Given the description of an element on the screen output the (x, y) to click on. 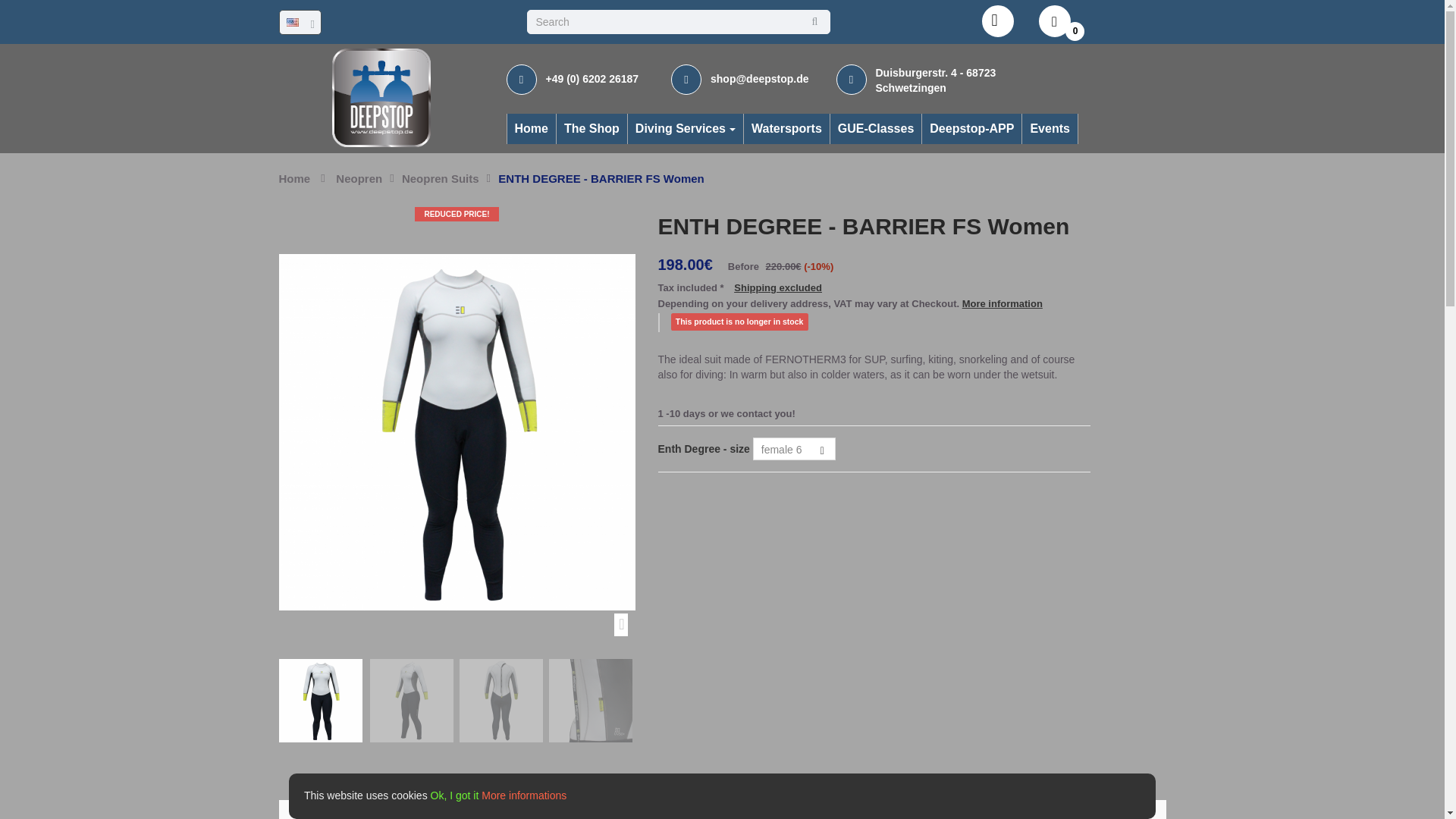
Home (531, 128)
Reviews (400, 809)
Watersports (785, 128)
Neopren (358, 178)
Events (1049, 128)
Home (295, 178)
Diving Services (684, 128)
Deepstop GmbH (380, 96)
The Shop (591, 128)
More info (325, 809)
GUE-Classes (875, 128)
More information (1002, 303)
Neopren (358, 178)
Return to Home (295, 178)
Neopren Suits (440, 178)
